Given the description of an element on the screen output the (x, y) to click on. 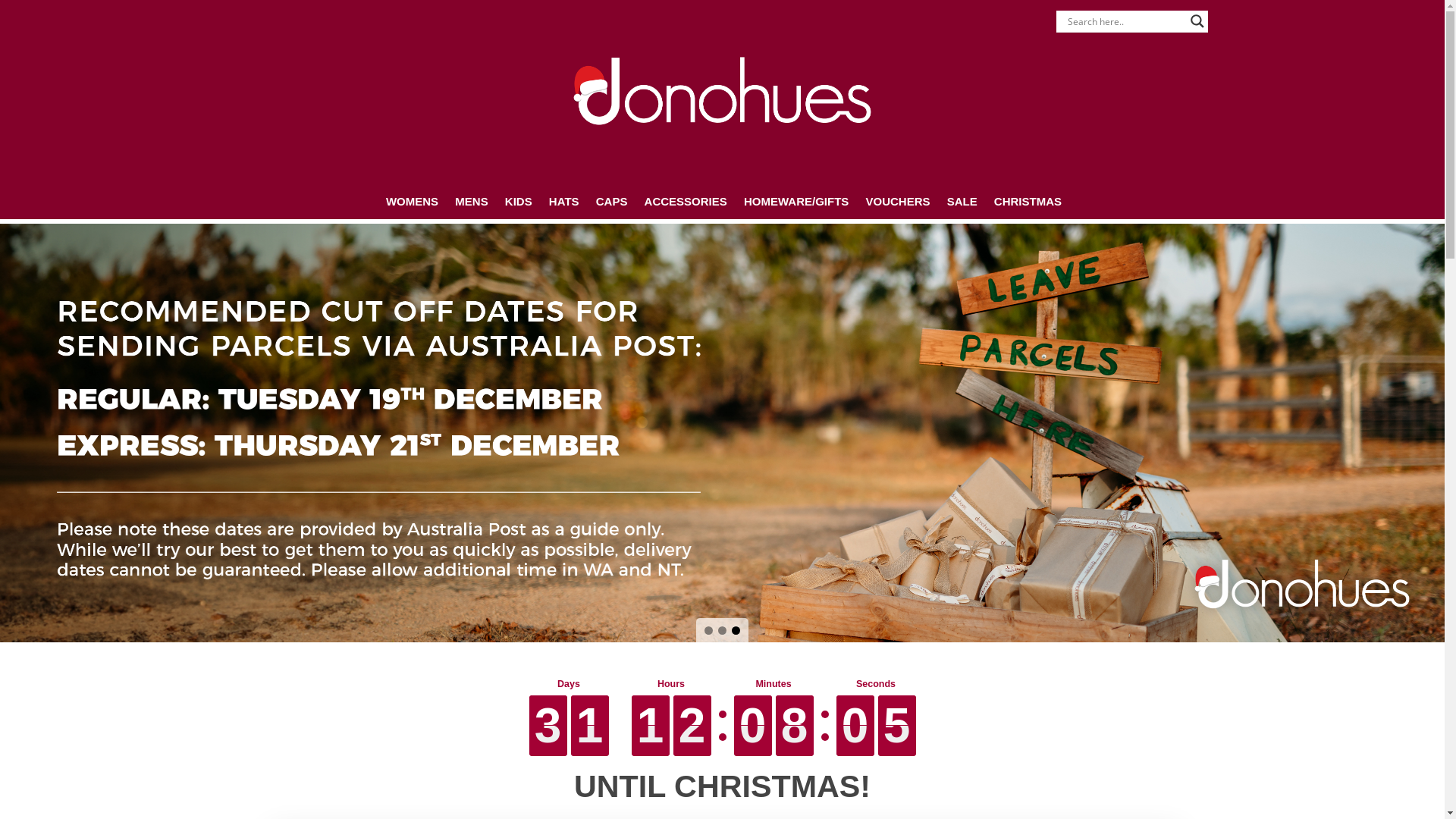
KIDS Element type: text (518, 200)
MENS Element type: text (470, 200)
VOUCHERS Element type: text (897, 200)
HATS Element type: text (563, 200)
CAPS Element type: text (611, 200)
WOMENS Element type: text (411, 200)
CHRISTMAS Element type: text (1027, 200)
HOMEWARE/GIFTS Element type: text (795, 200)
ACCESSORIES Element type: text (685, 200)
SALE Element type: text (961, 200)
